Given the description of an element on the screen output the (x, y) to click on. 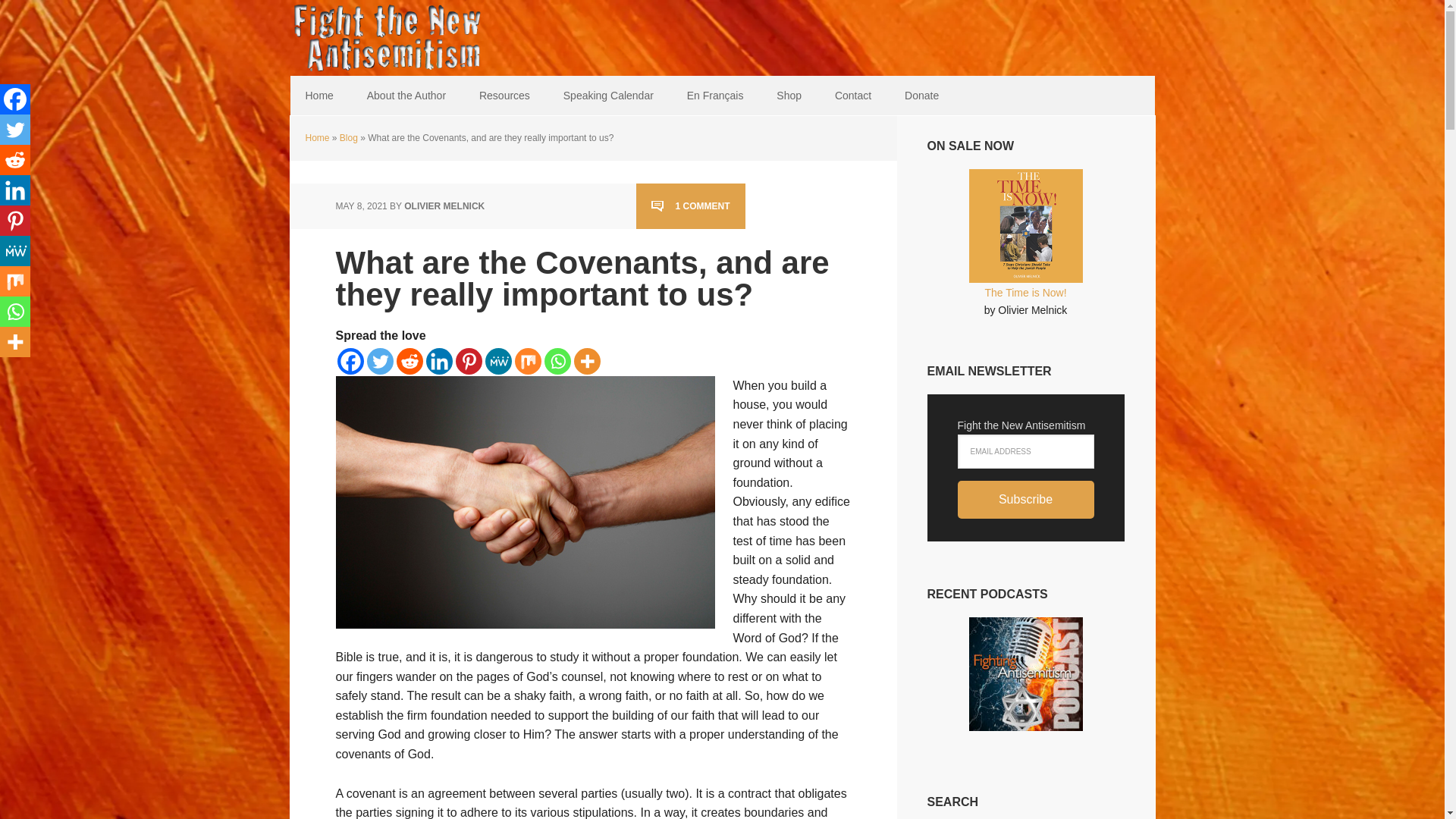
1 COMMENT (689, 205)
Reddit (15, 159)
MeWe (15, 250)
Mix (526, 361)
Contact (852, 96)
Whatsapp (557, 361)
Home (318, 96)
Speaking Calendar (608, 96)
Resources (504, 96)
Home (316, 137)
